Given the description of an element on the screen output the (x, y) to click on. 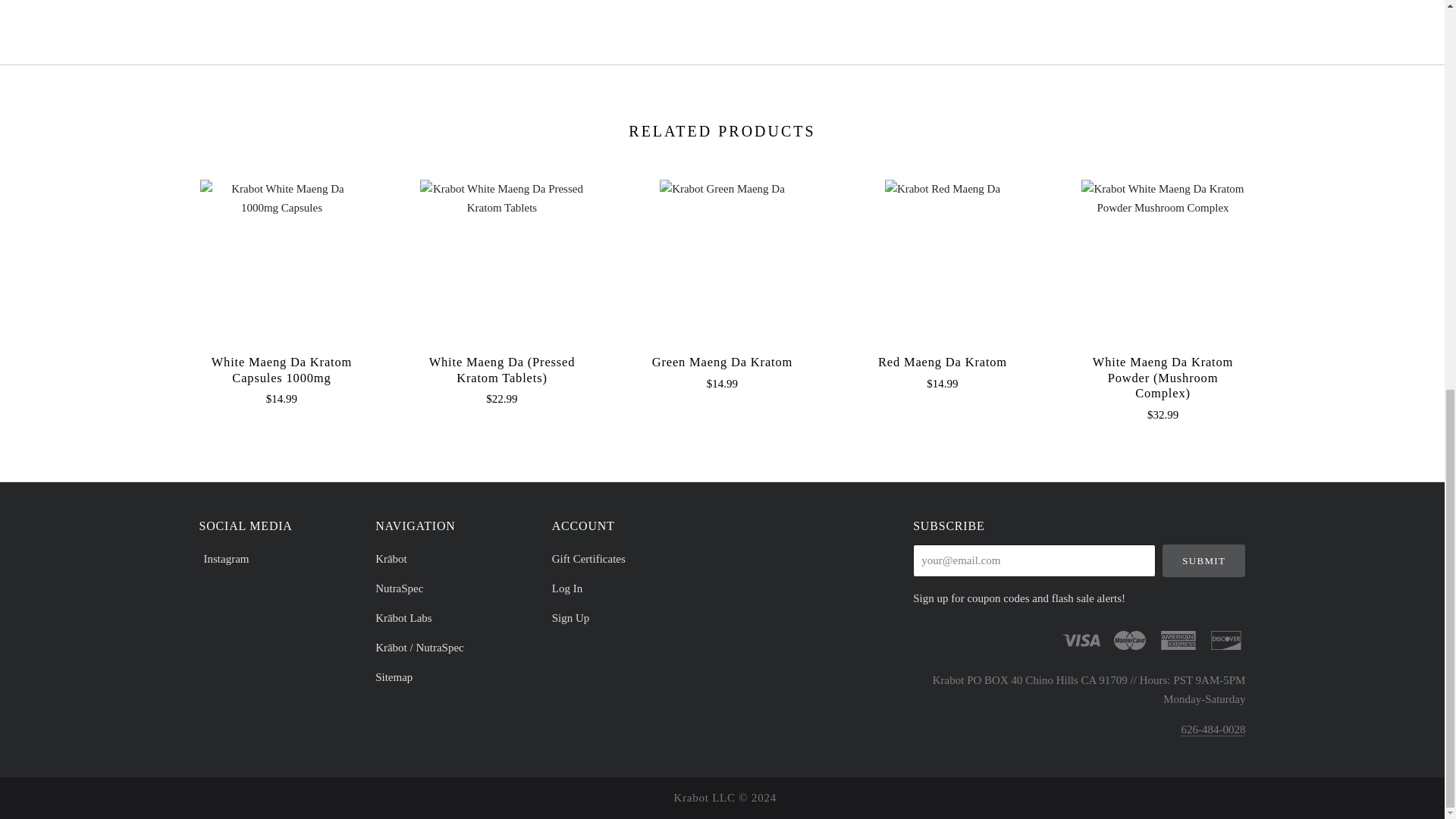
Krabot White Maeng Da Pressed Kratom Tablets (501, 198)
Krabot White Maeng Da 1000mg Capsules (281, 198)
White Maeng Da Kratom Capsules 1000mg (281, 261)
Red Maeng Da Kratom (942, 361)
Krabot White Maeng Da Kratom Powder Mushroom Complex (1162, 198)
Green Maeng Da Kratom (721, 261)
Green Maeng Da Kratom (722, 361)
Krabot Green Maeng Da (721, 189)
Red Maeng Da Kratom (941, 261)
Submit (1203, 560)
White Maeng Da Kratom Capsules 1000mg (281, 369)
Krabot Red Maeng Da (942, 189)
